Given the description of an element on the screen output the (x, y) to click on. 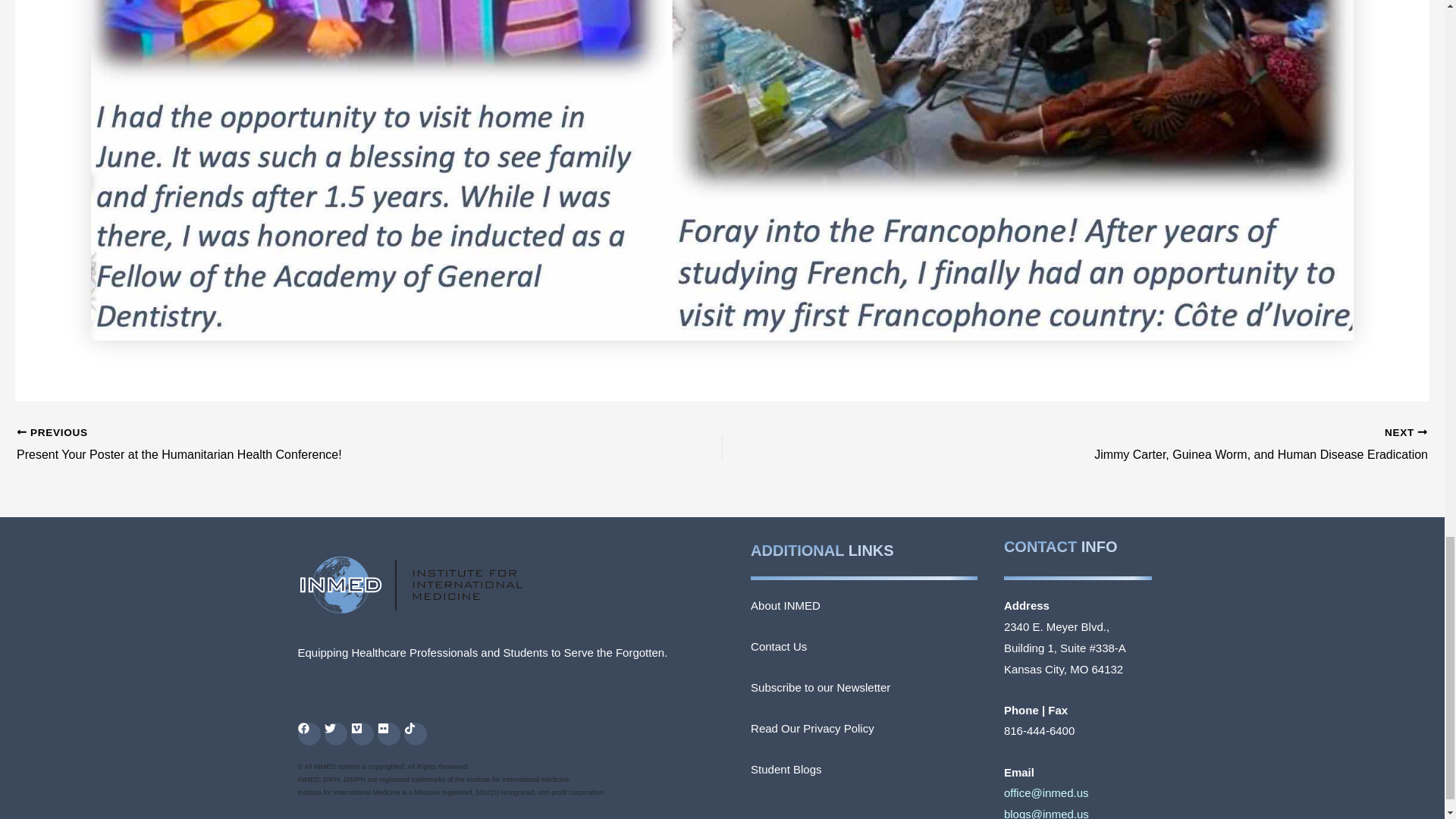
Jimmy Carter, Guinea Worm, and Human Disease Eradication (1144, 445)
Present Your Poster at the Humanitarian Health Conference! (299, 445)
